Given the description of an element on the screen output the (x, y) to click on. 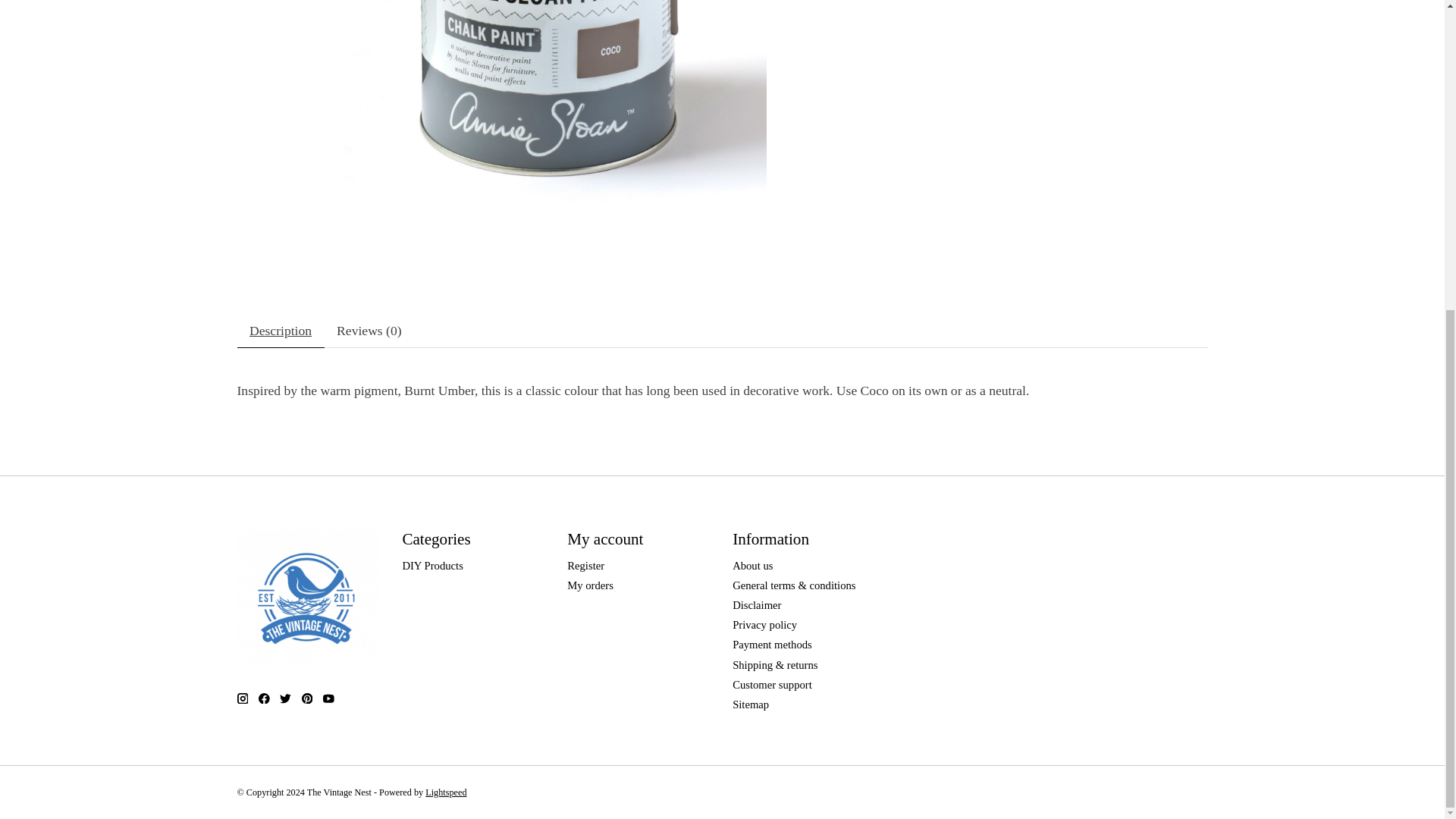
Disclaimer (756, 604)
Sitemap (750, 704)
Lightspeed (445, 792)
Customer support (772, 684)
Privacy policy (764, 624)
Description (279, 331)
About us (752, 565)
My orders (589, 585)
Register (585, 565)
Payment methods (772, 644)
